Given the description of an element on the screen output the (x, y) to click on. 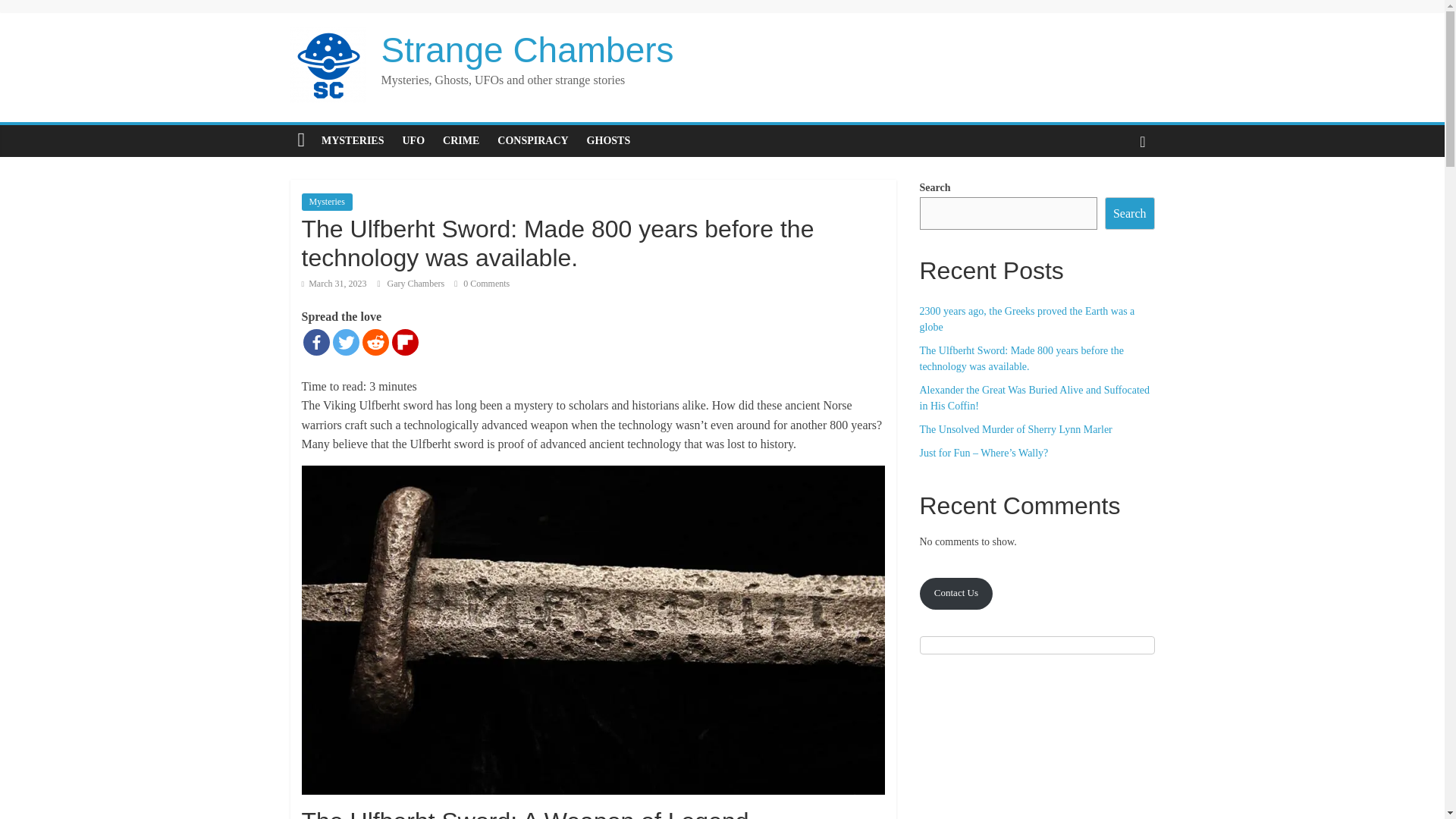
7:09 pm (333, 283)
CRIME (460, 141)
Strange Chambers (526, 49)
Facebook (316, 342)
Gary Chambers (416, 283)
GHOSTS (609, 141)
UFO (413, 141)
CONSPIRACY (531, 141)
Flipboard (404, 342)
MYSTERIES (353, 141)
Mysteries (326, 201)
0 Comments (481, 283)
Strange Chambers (526, 49)
March 31, 2023 (333, 283)
Reddit (375, 342)
